Given the description of an element on the screen output the (x, y) to click on. 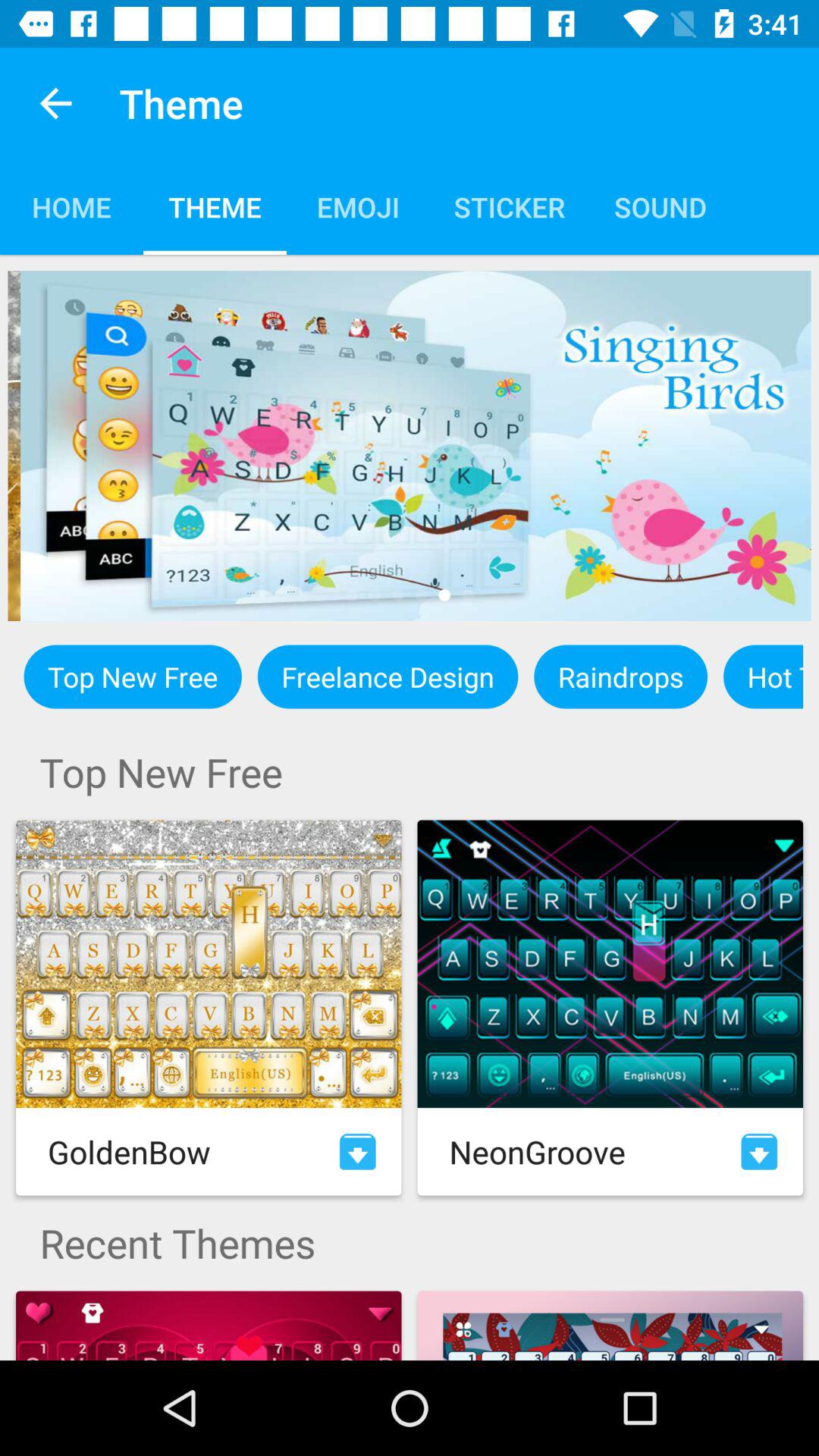
tap the item to the left of raindrops (387, 676)
